Given the description of an element on the screen output the (x, y) to click on. 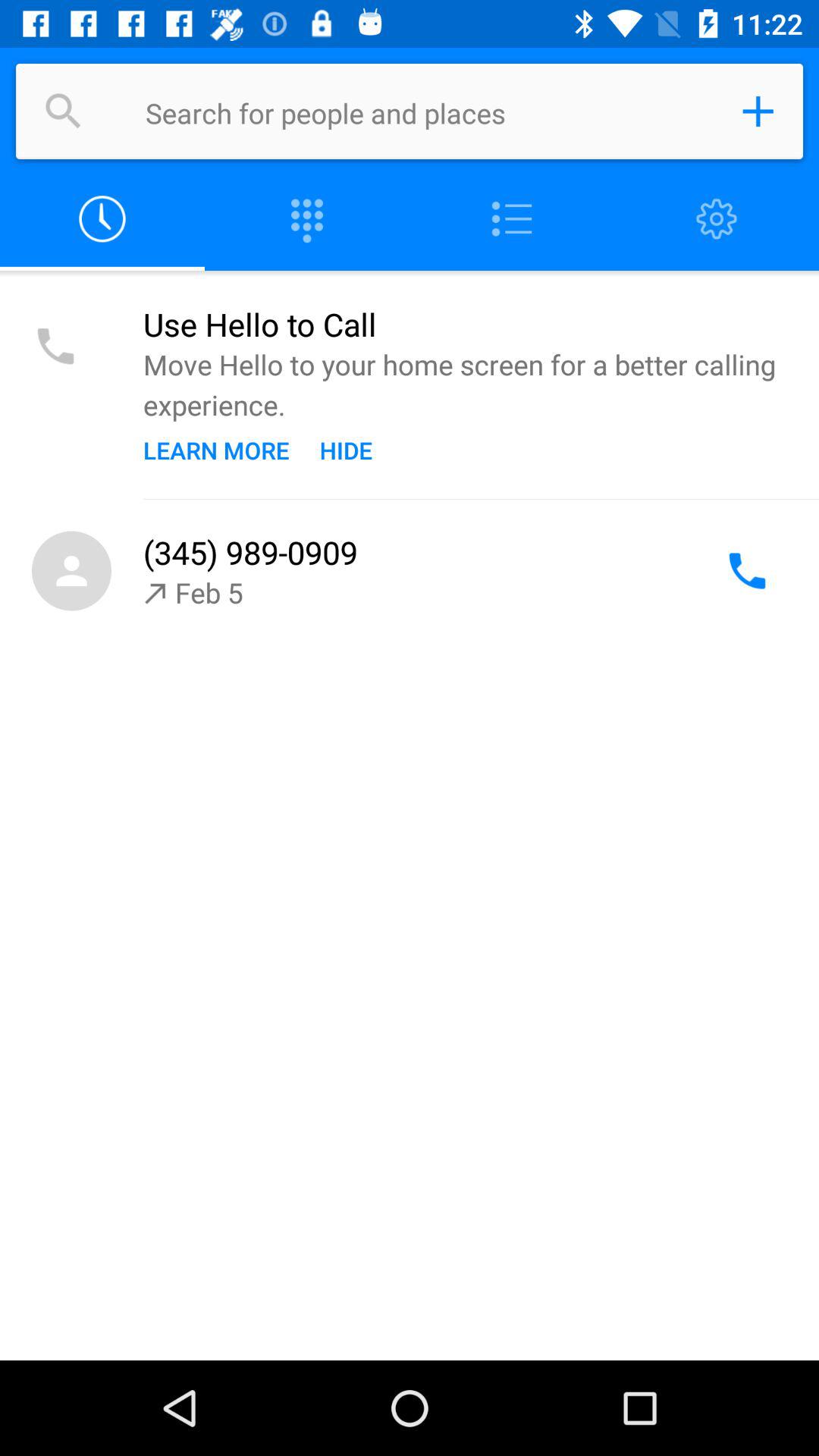
click search option (63, 111)
